Given the description of an element on the screen output the (x, y) to click on. 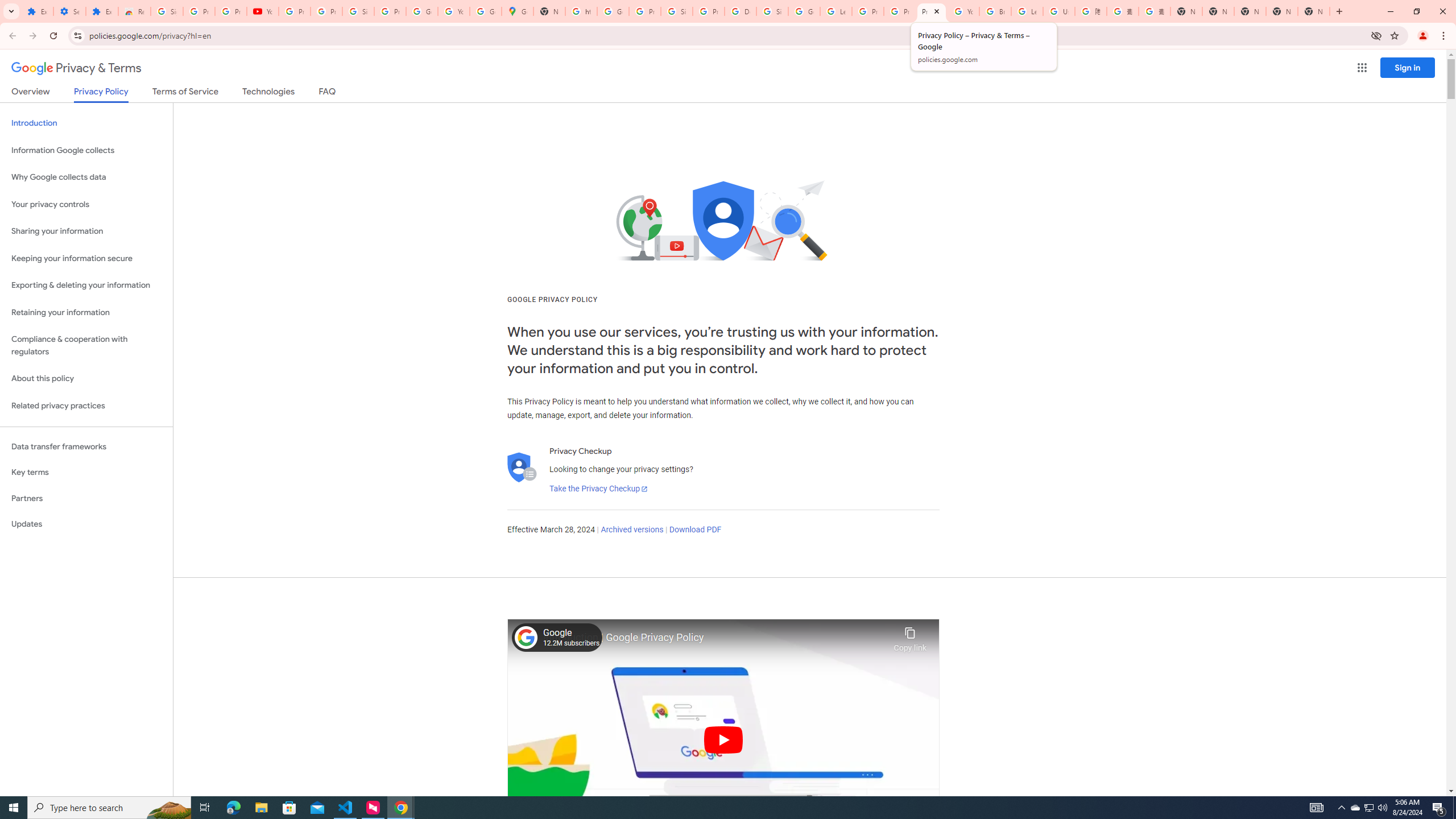
New Tab (1313, 11)
Introduction | Google Privacy Policy (715, 637)
Take the Privacy Checkup (597, 488)
Copy link (909, 636)
Extensions (101, 11)
Google Maps (517, 11)
Information Google collects (86, 150)
Why Google collects data (86, 176)
Delete specific Google services or your Google Account (740, 11)
